Given the description of an element on the screen output the (x, y) to click on. 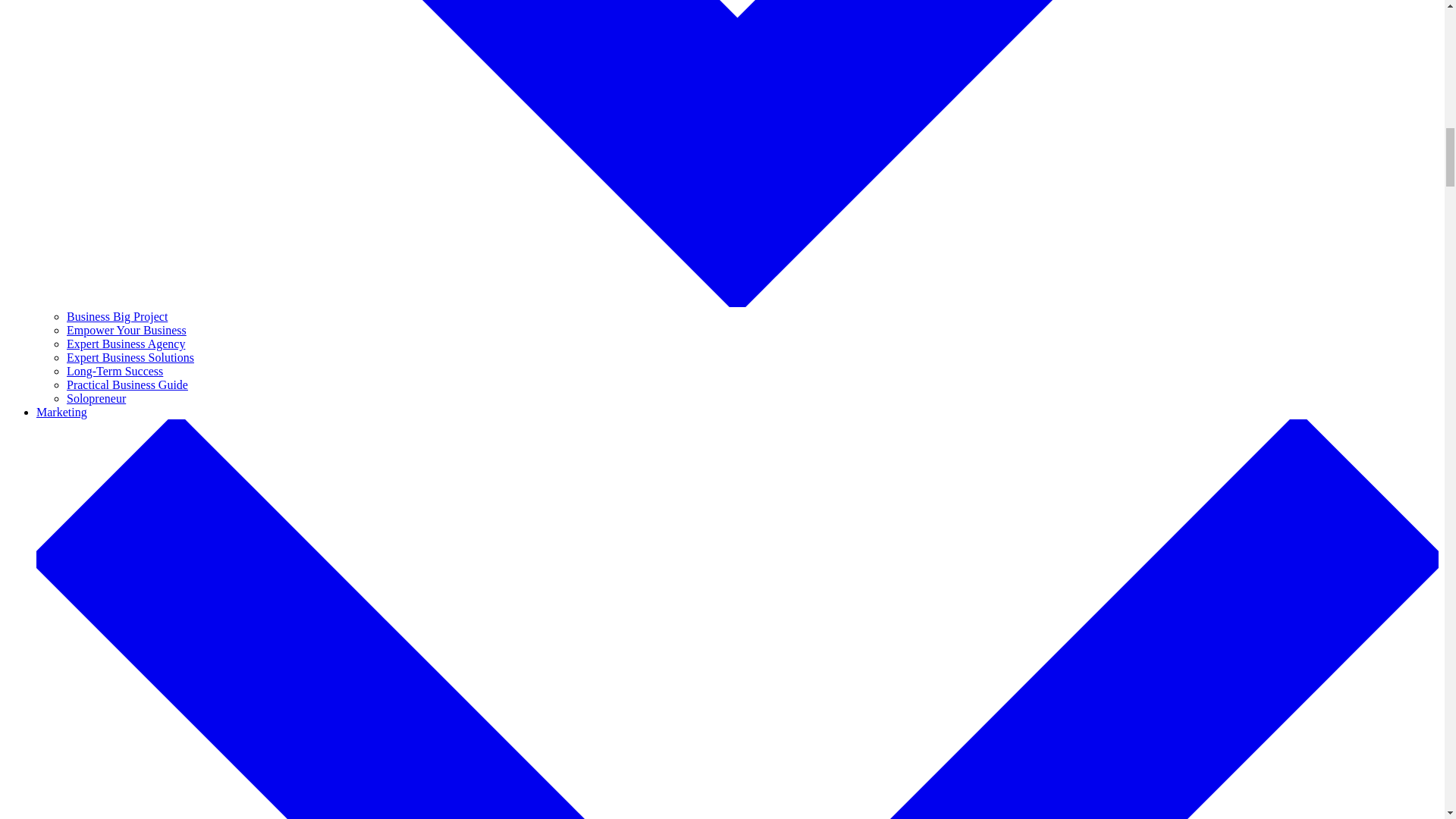
Expert Business Solutions (129, 357)
Expert Business Agency (125, 343)
Long-Term Success (114, 370)
Practical Business Guide (126, 384)
Business Big Project (116, 316)
Empower Your Business (126, 329)
Solopreneur (95, 398)
